Given the description of an element on the screen output the (x, y) to click on. 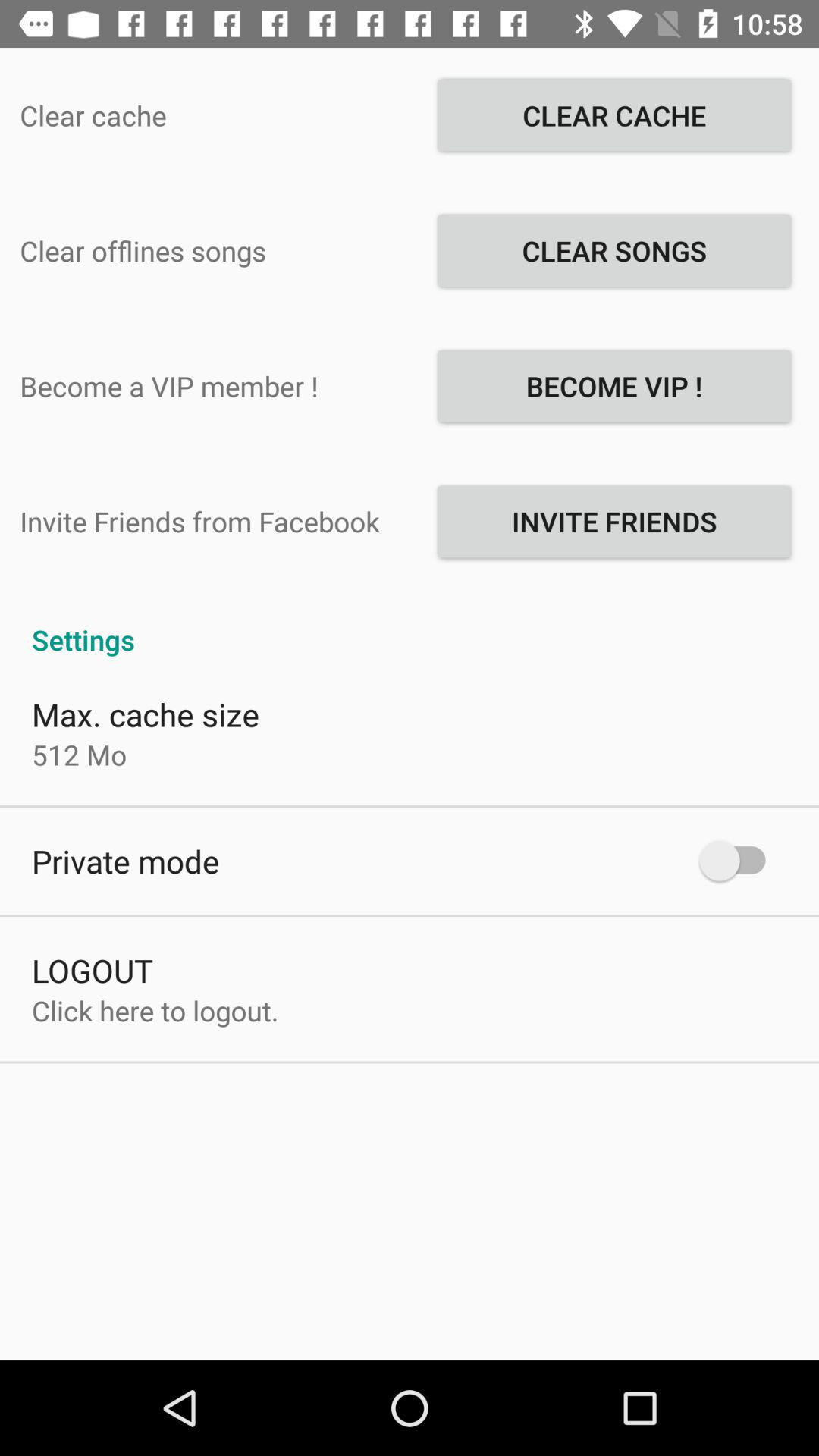
turn on the app above logout app (125, 860)
